Given the description of an element on the screen output the (x, y) to click on. 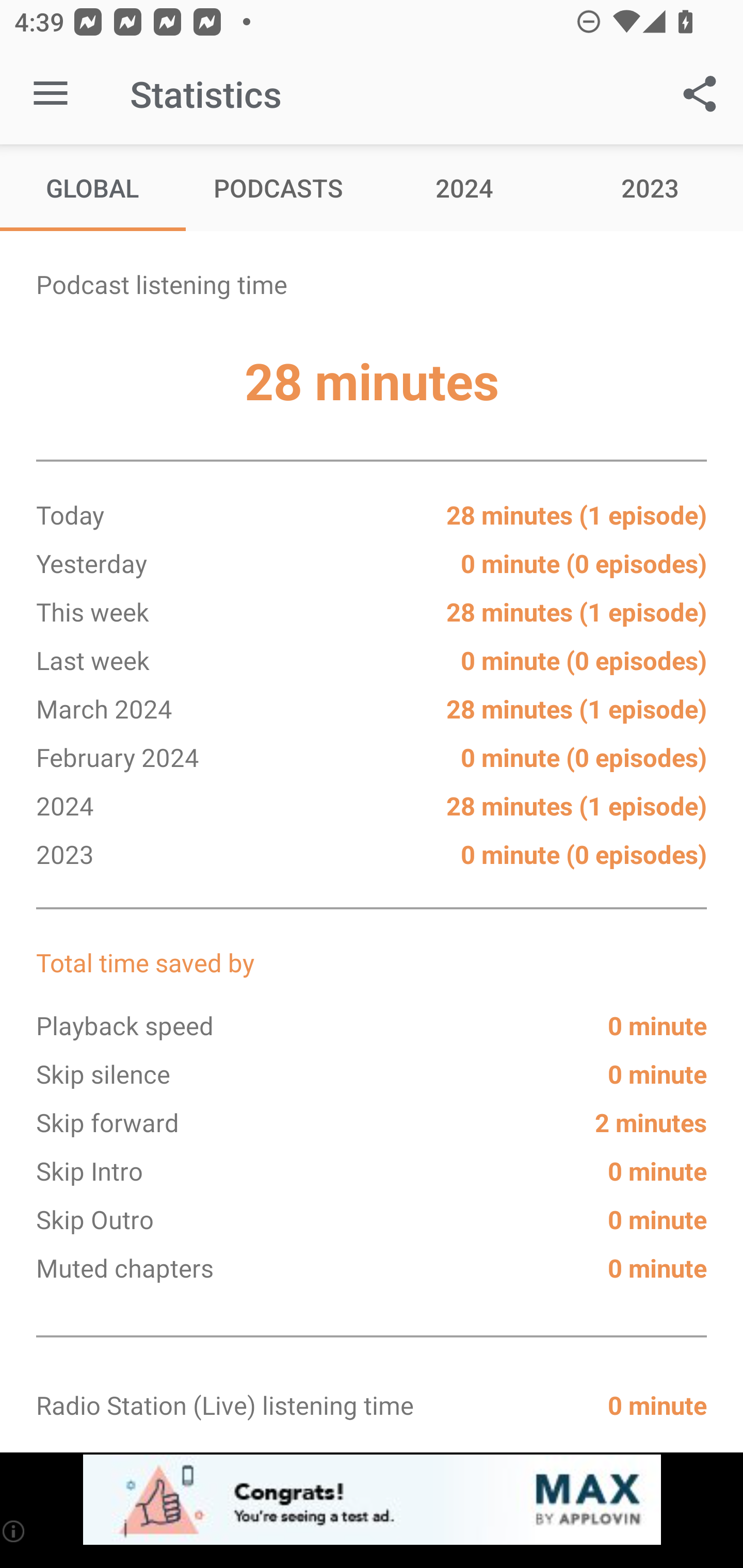
Open navigation sidebar (50, 93)
Share (699, 93)
Podcasts PODCASTS (278, 187)
2024 (464, 187)
2023 (650, 187)
app-monetization (371, 1500)
(i) (14, 1531)
